Given the description of an element on the screen output the (x, y) to click on. 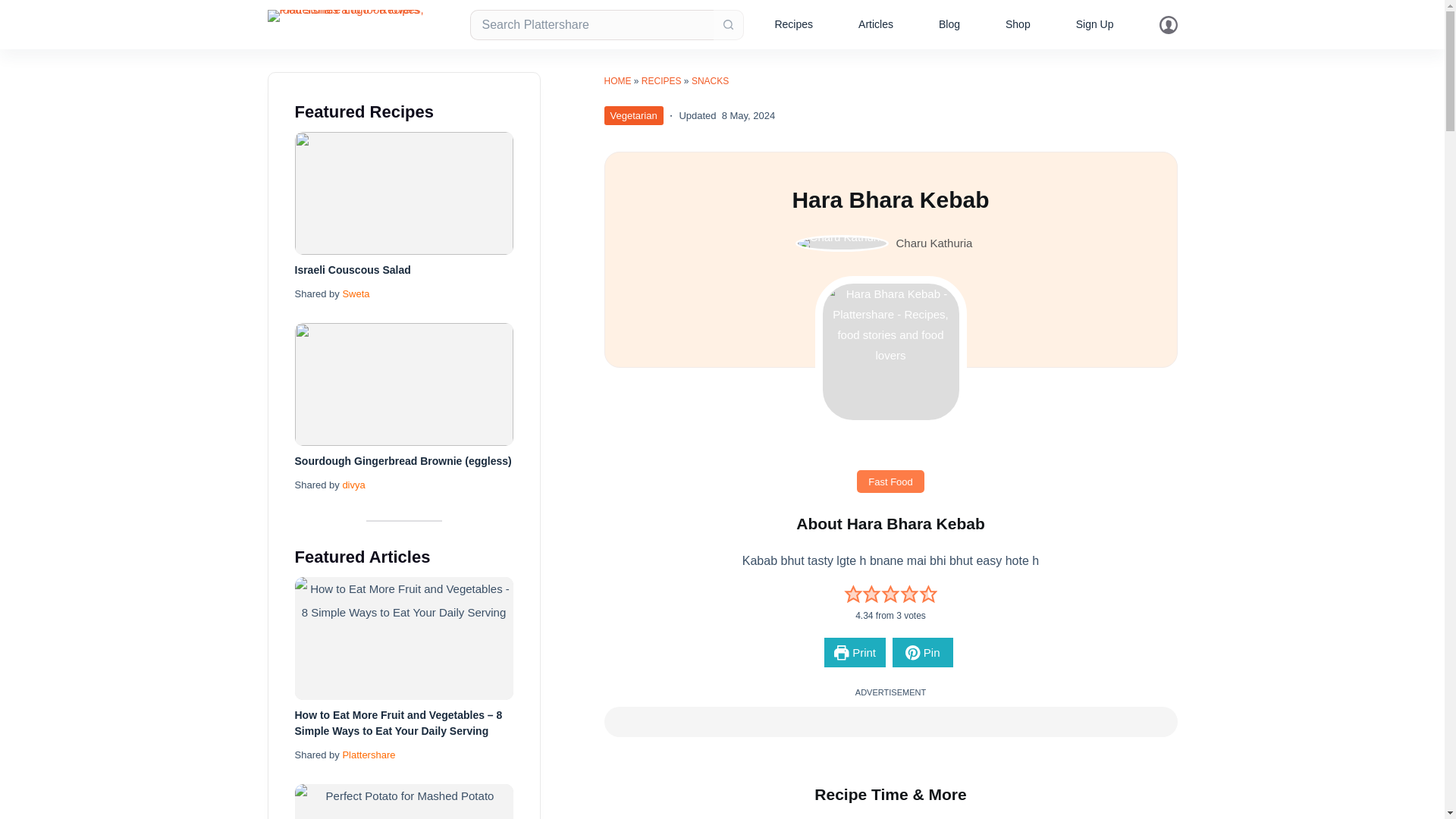
Fast Food (890, 481)
Articles (875, 24)
Blog (948, 24)
Search for... (592, 24)
Recipes (793, 24)
Pin (922, 652)
Vegetarian (633, 115)
Sign Up (1094, 24)
SNACKS (710, 81)
Shop (1017, 24)
Skip to content (15, 7)
Print (854, 652)
HOME (617, 81)
